Given the description of an element on the screen output the (x, y) to click on. 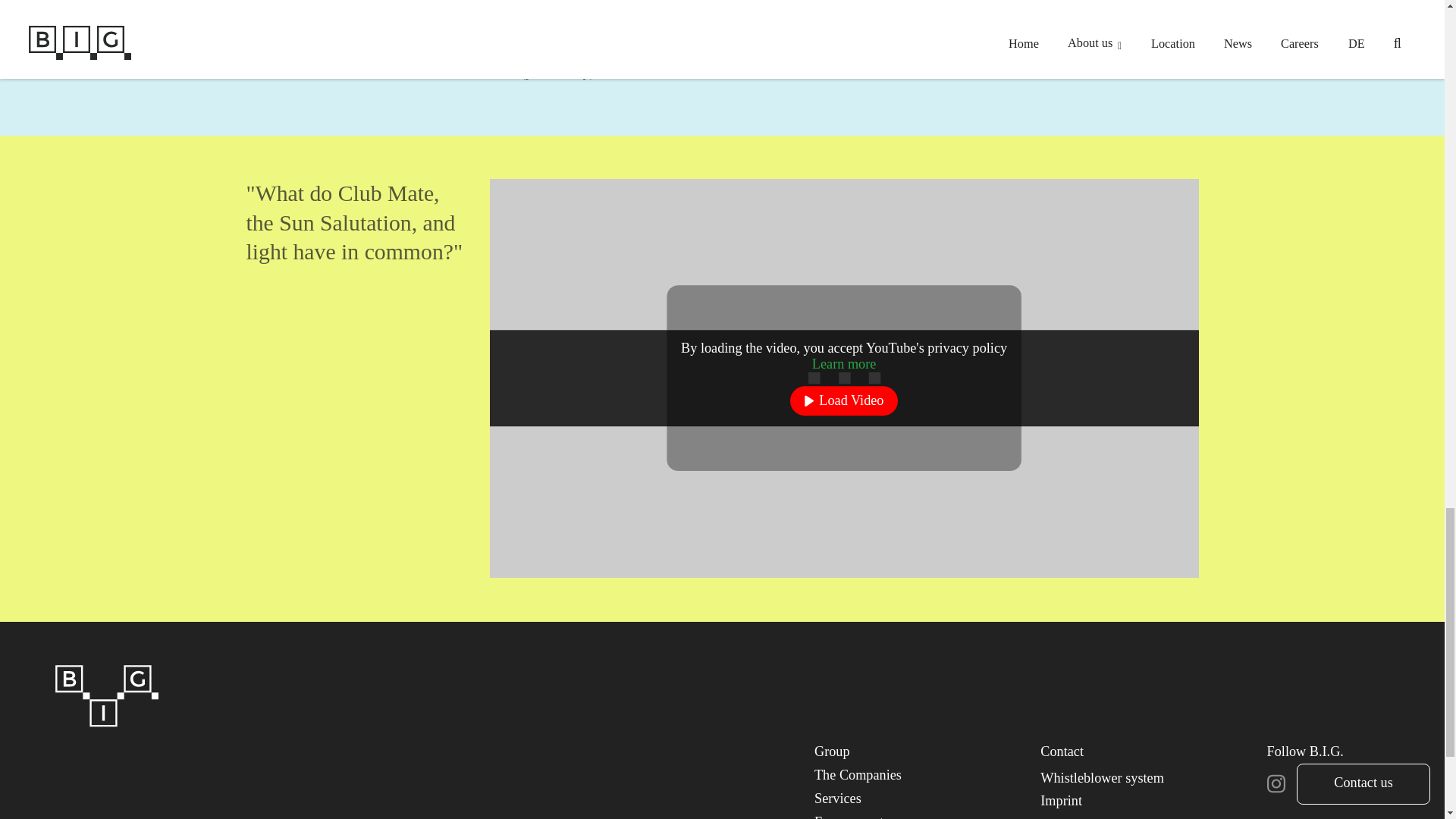
Services (837, 798)
Load Video (843, 401)
The Companies (857, 774)
Whistleblower system (1102, 777)
Group (831, 751)
Engagement (848, 816)
Imprint (1061, 800)
Learn more (844, 363)
Privacy Policy (1081, 817)
Contact (1062, 751)
